Given the description of an element on the screen output the (x, y) to click on. 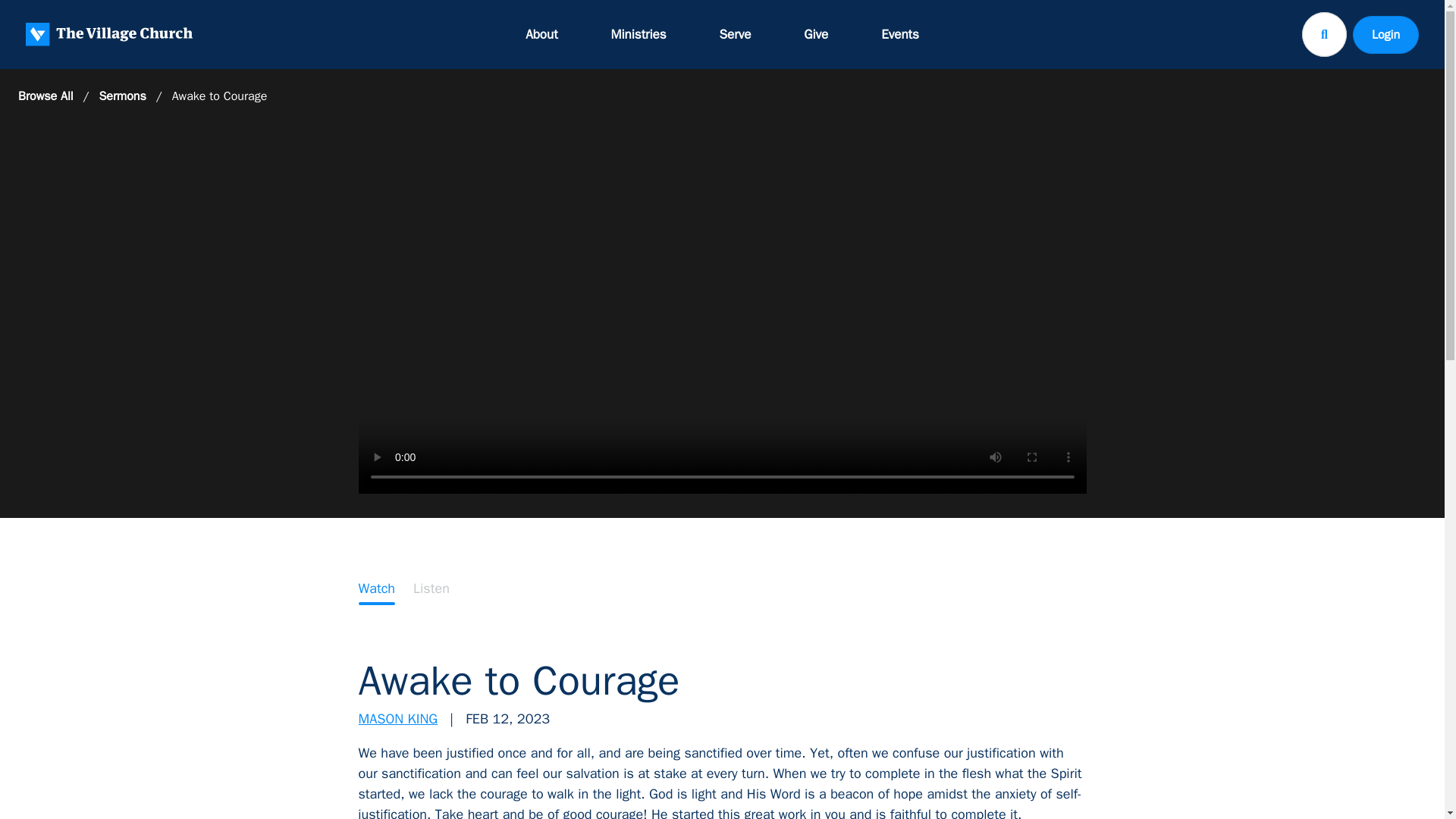
About (541, 34)
Events (899, 34)
Login (1385, 34)
Give (815, 34)
Browse All (45, 96)
Ministries (638, 34)
Sermons (122, 96)
Serve (735, 34)
